Given the description of an element on the screen output the (x, y) to click on. 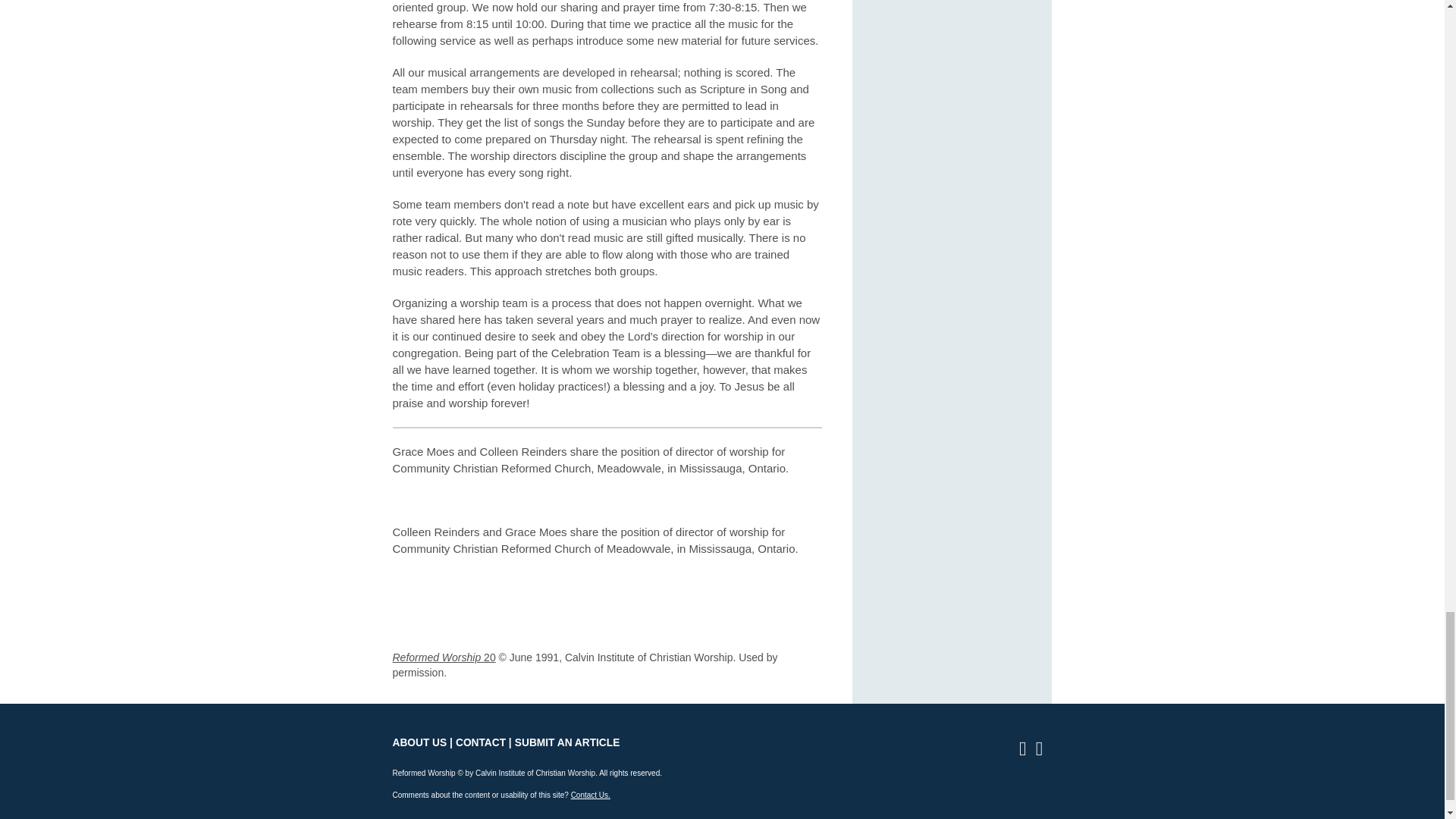
Reformed Worship 20 (444, 657)
SUBMIT AN ARTICLE (567, 742)
CONTACT (480, 742)
Twitter (1043, 750)
ABOUT US (419, 742)
